Given the description of an element on the screen output the (x, y) to click on. 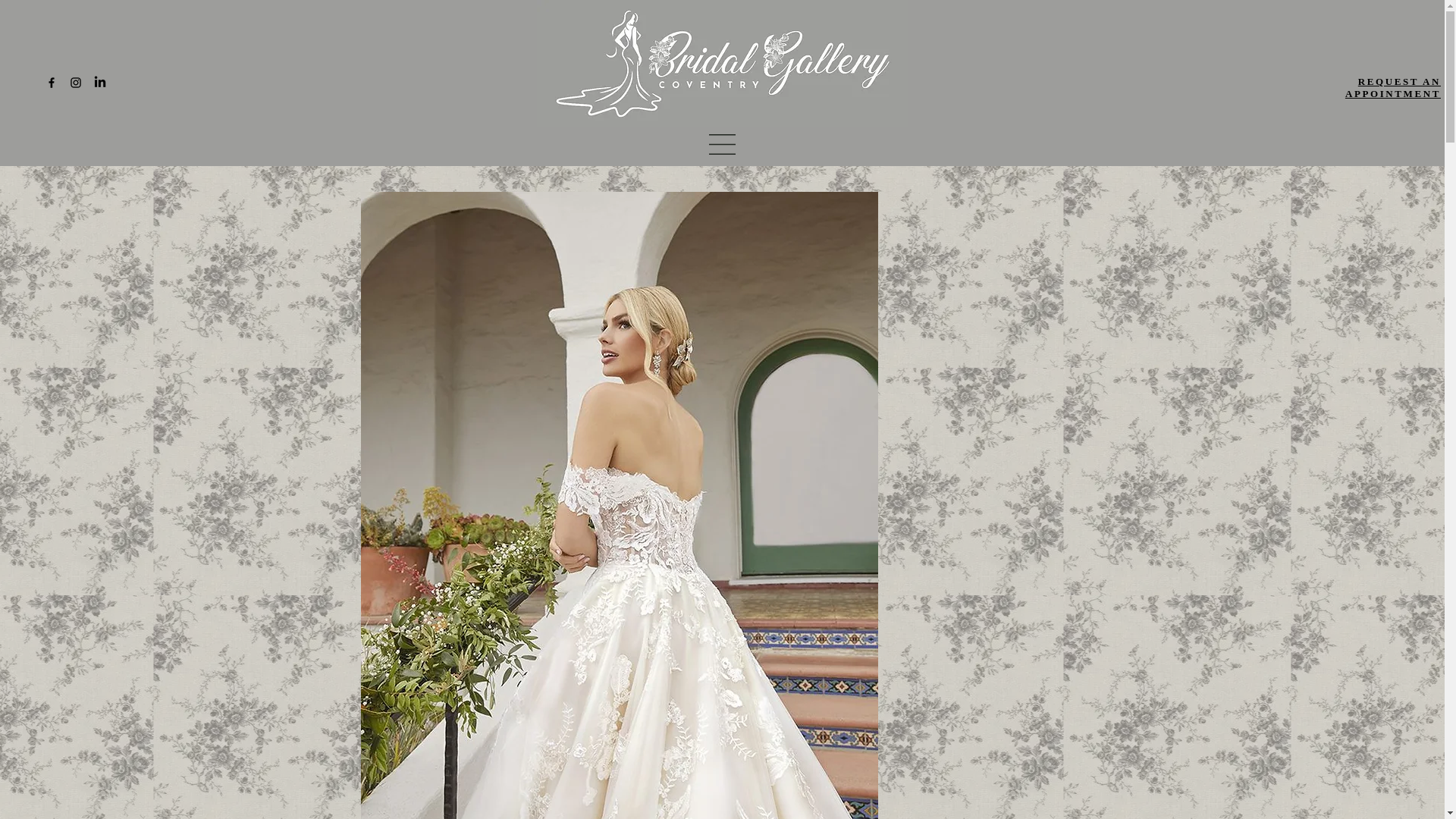
REQUEST AN APPOINTMENT (1393, 87)
